Given the description of an element on the screen output the (x, y) to click on. 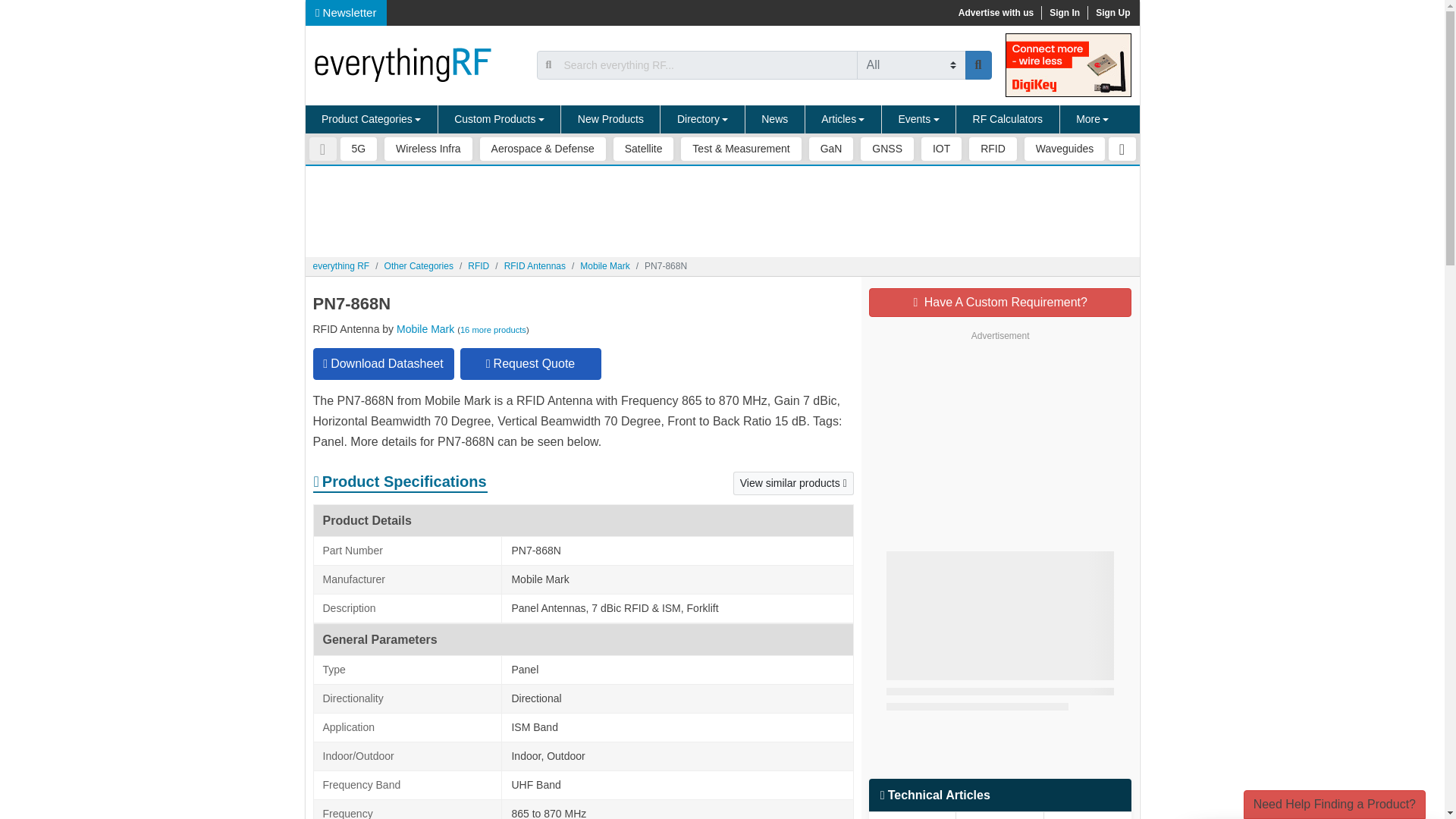
Sign In (1064, 12)
Newsletter (345, 12)
Product Categories (371, 119)
Sign Up (1112, 12)
Advertise with us (995, 12)
